Given the description of an element on the screen output the (x, y) to click on. 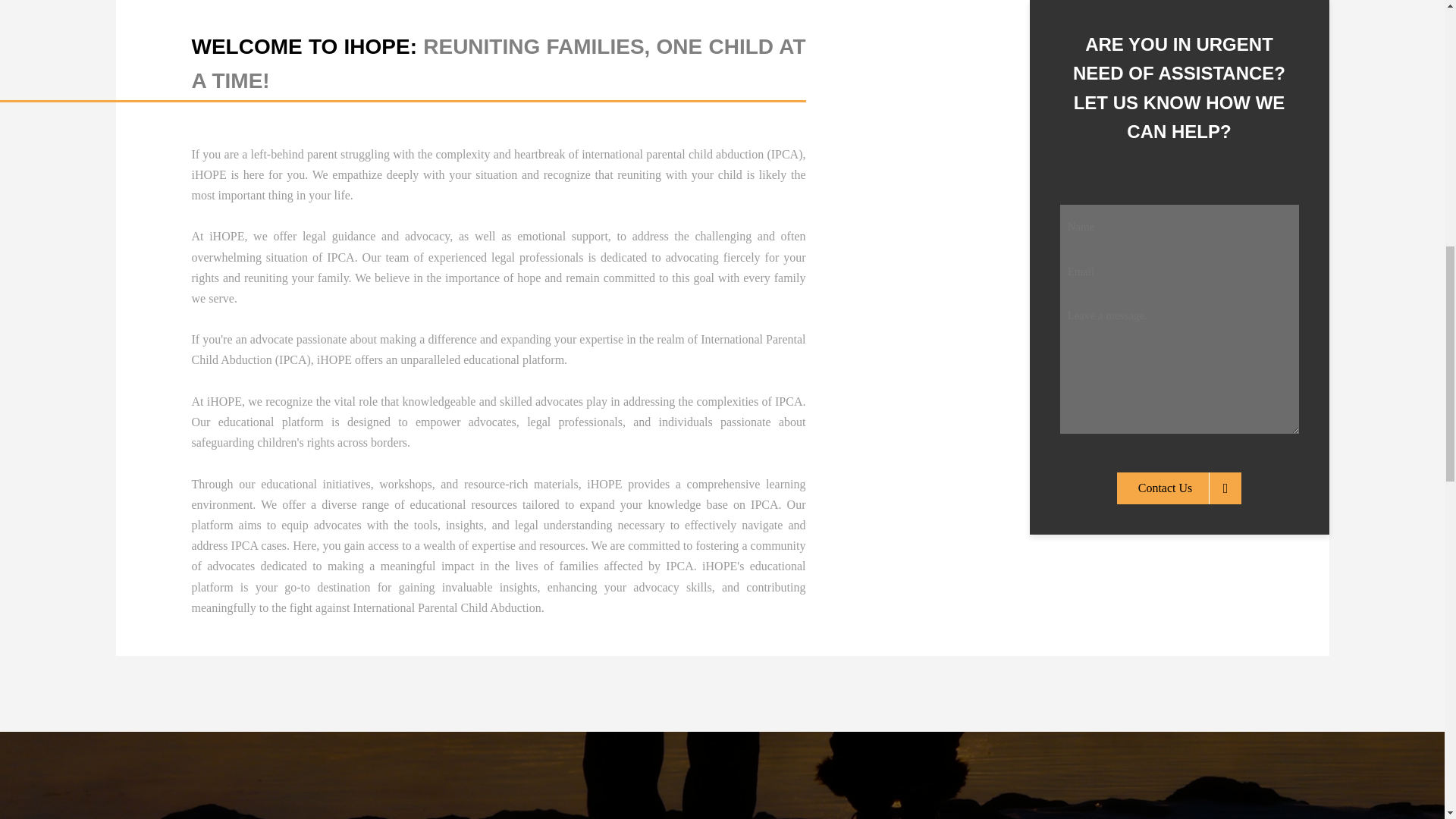
Contact Us (1178, 465)
